Given the description of an element on the screen output the (x, y) to click on. 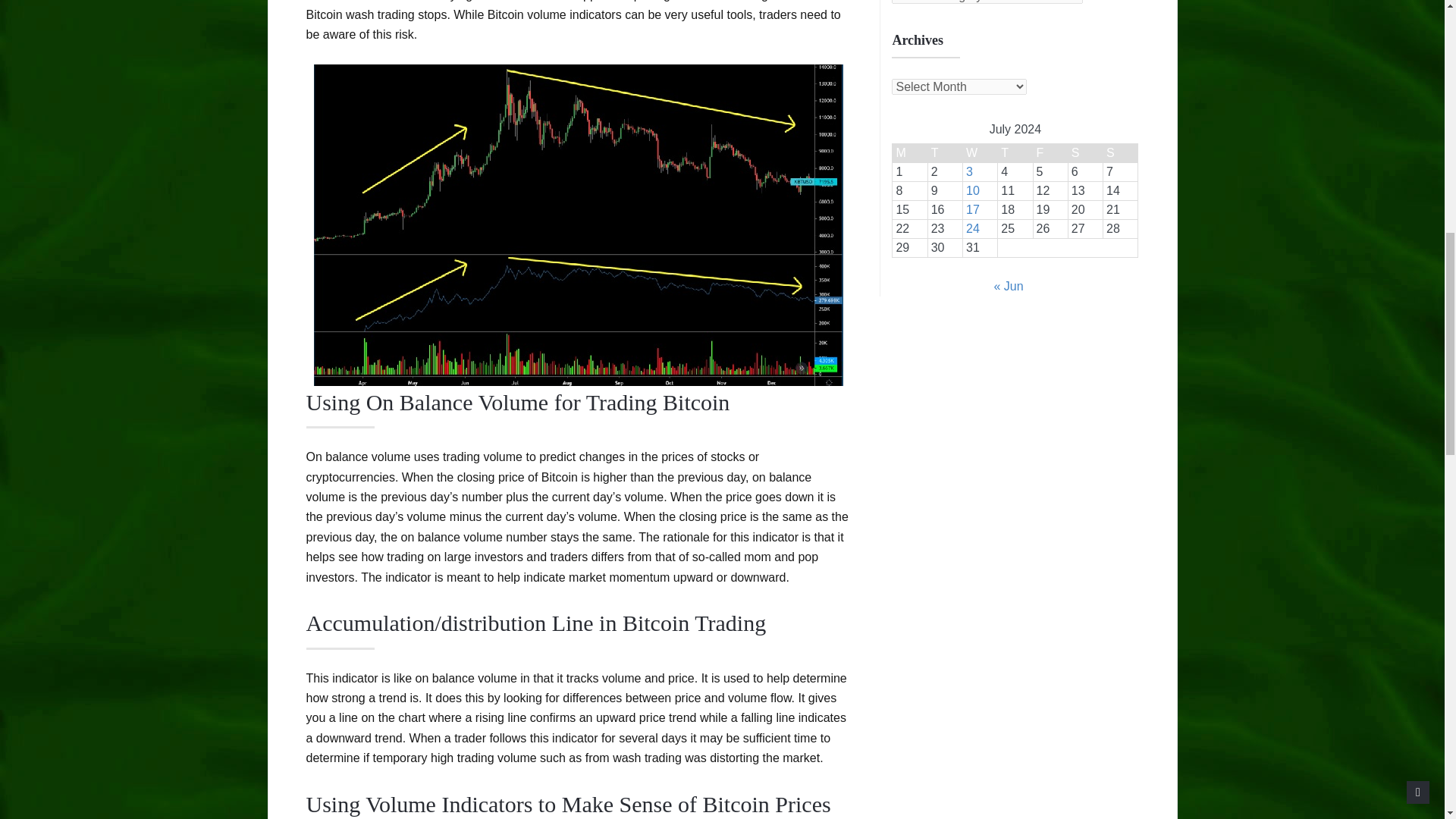
Wednesday (979, 153)
Thursday (1014, 153)
24 (972, 228)
Tuesday (944, 153)
Monday (909, 153)
Friday (1049, 153)
Saturday (1084, 153)
10 (972, 190)
17 (972, 209)
Sunday (1120, 153)
